Given the description of an element on the screen output the (x, y) to click on. 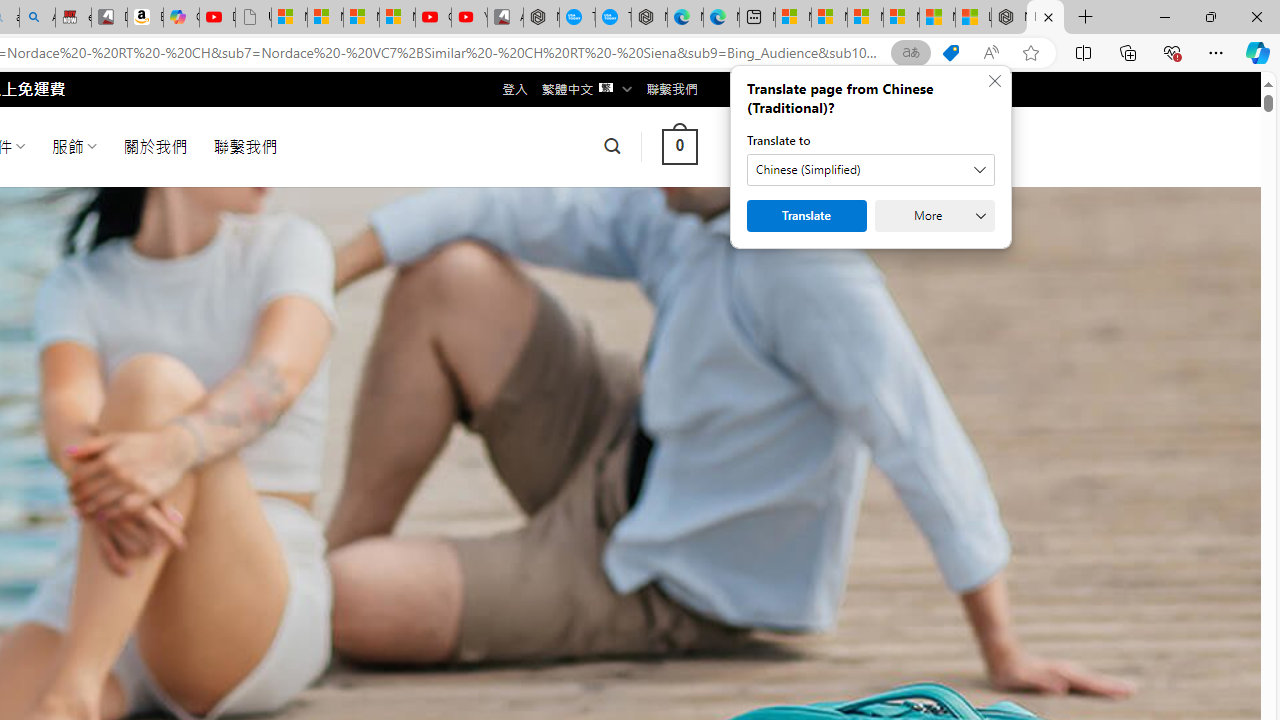
  0   (679, 146)
 0  (679, 146)
Show translate options (910, 53)
The most popular Google 'how to' searches (613, 17)
